Given the description of an element on the screen output the (x, y) to click on. 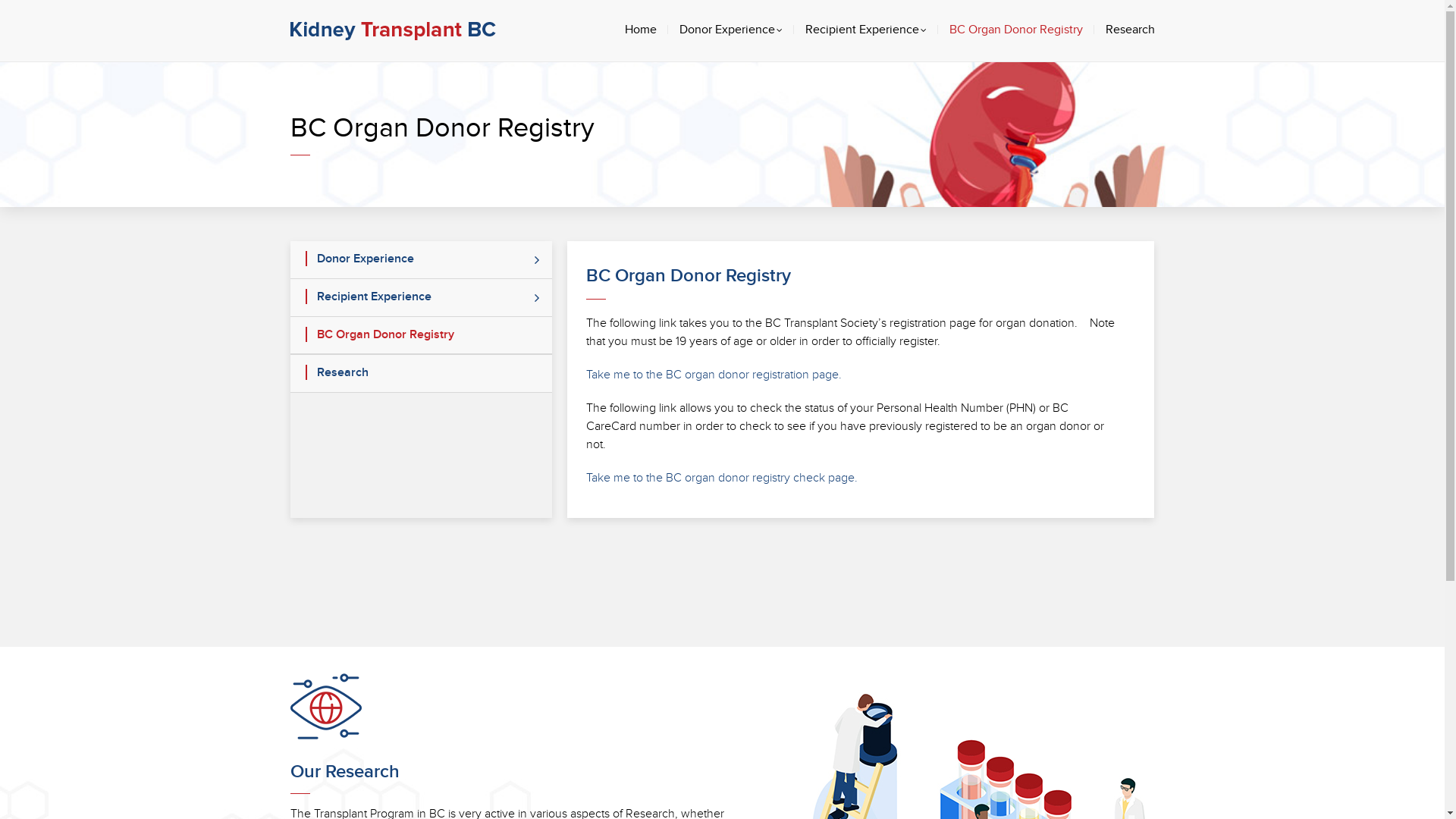
BC Organ Donor Registry Element type: text (1015, 29)
Recipient Experience Element type: text (420, 297)
Research Element type: text (1129, 29)
Donor Experience Element type: text (420, 259)
BC Organ Donor Registry Element type: text (420, 335)
Recipient Experience Element type: text (865, 29)
Donor Experience Element type: text (730, 29)
Home Element type: text (640, 29)
Take me to the BC organ donor registry check page. Element type: text (721, 477)
Take me to the BC organ donor registration page. Element type: text (713, 374)
Research Element type: text (420, 373)
